Given the description of an element on the screen output the (x, y) to click on. 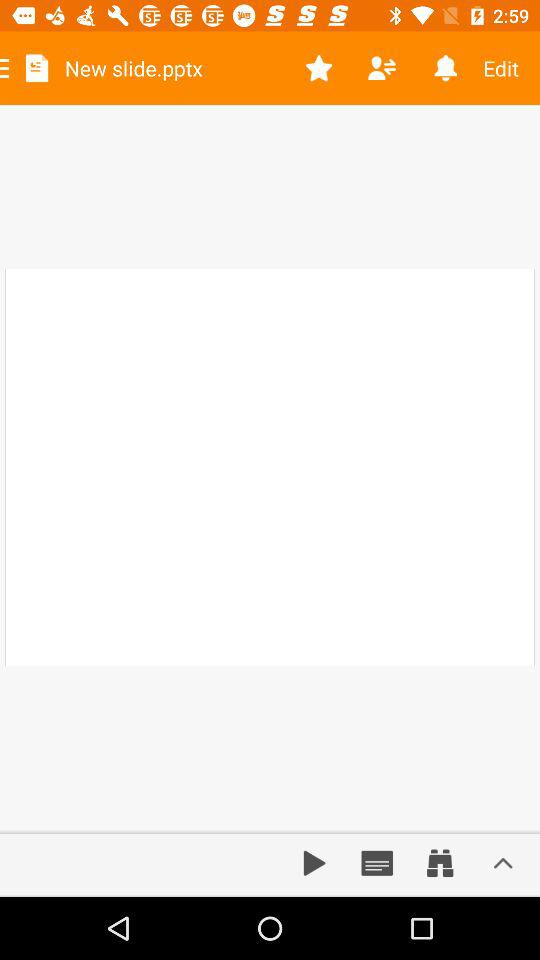
scroll to edit item (508, 68)
